Given the description of an element on the screen output the (x, y) to click on. 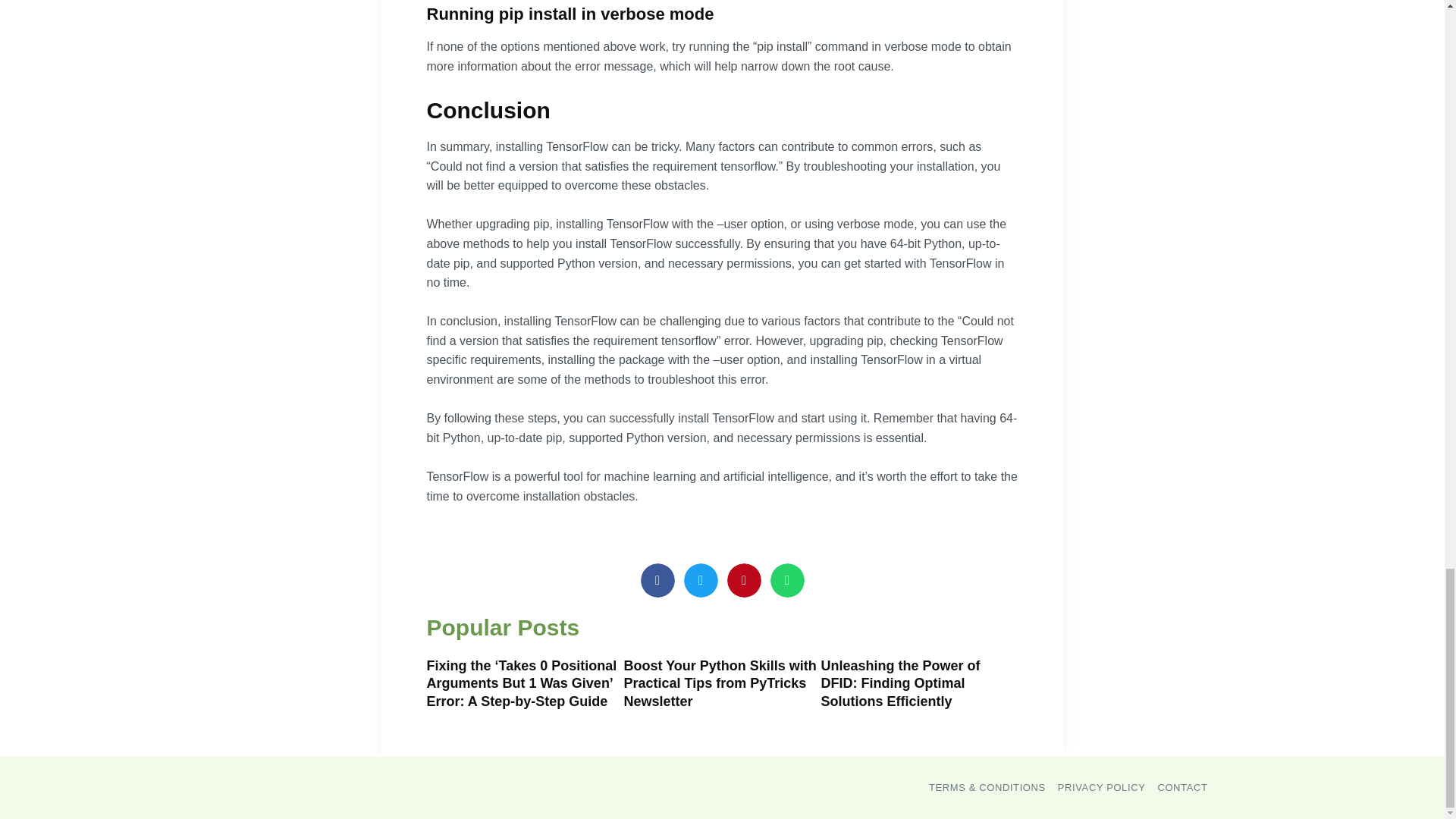
CONTACT (1182, 787)
PRIVACY POLICY (1101, 787)
